Given the description of an element on the screen output the (x, y) to click on. 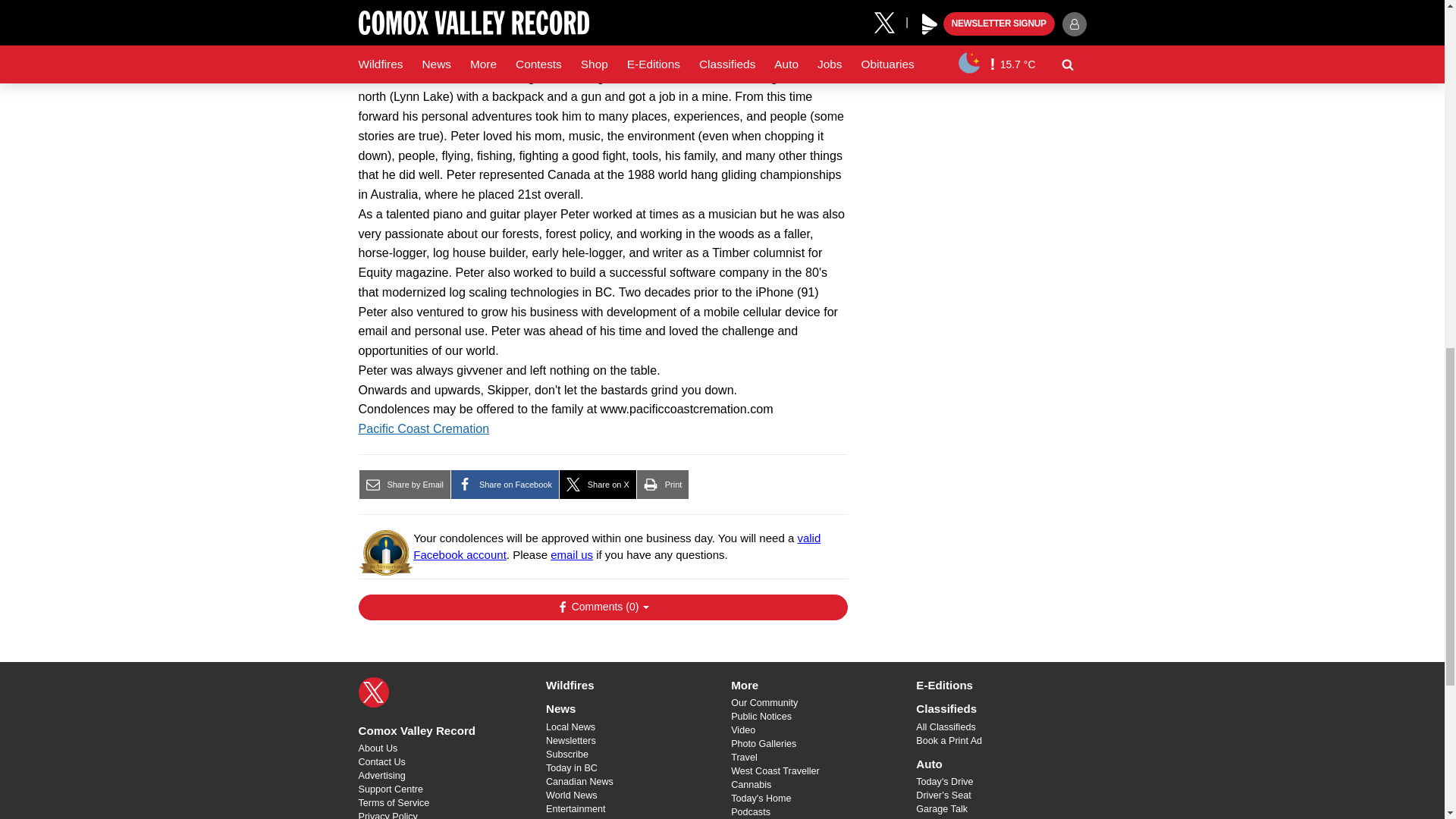
X (373, 692)
Show Comments (602, 606)
